Given the description of an element on the screen output the (x, y) to click on. 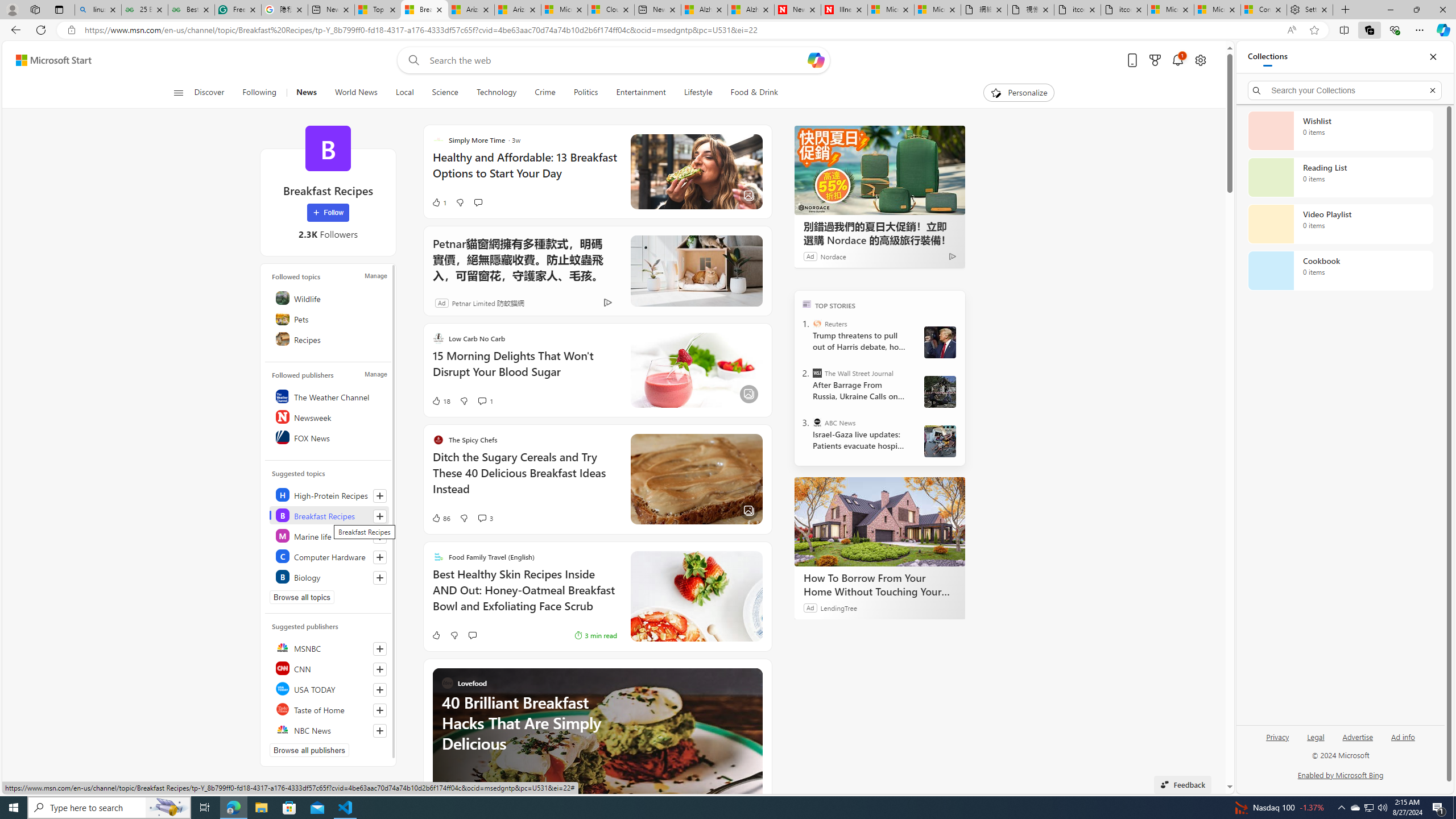
Browse all publishers (309, 749)
View comments 1 Comment (481, 400)
Local (404, 92)
Class: highlight (328, 576)
Cloud Computing Services | Microsoft Azure (610, 9)
Follow (328, 212)
Technology (496, 92)
Class: highlight selected (328, 515)
Microsoft Services Agreement (563, 9)
Entertainment (641, 92)
